Given the description of an element on the screen output the (x, y) to click on. 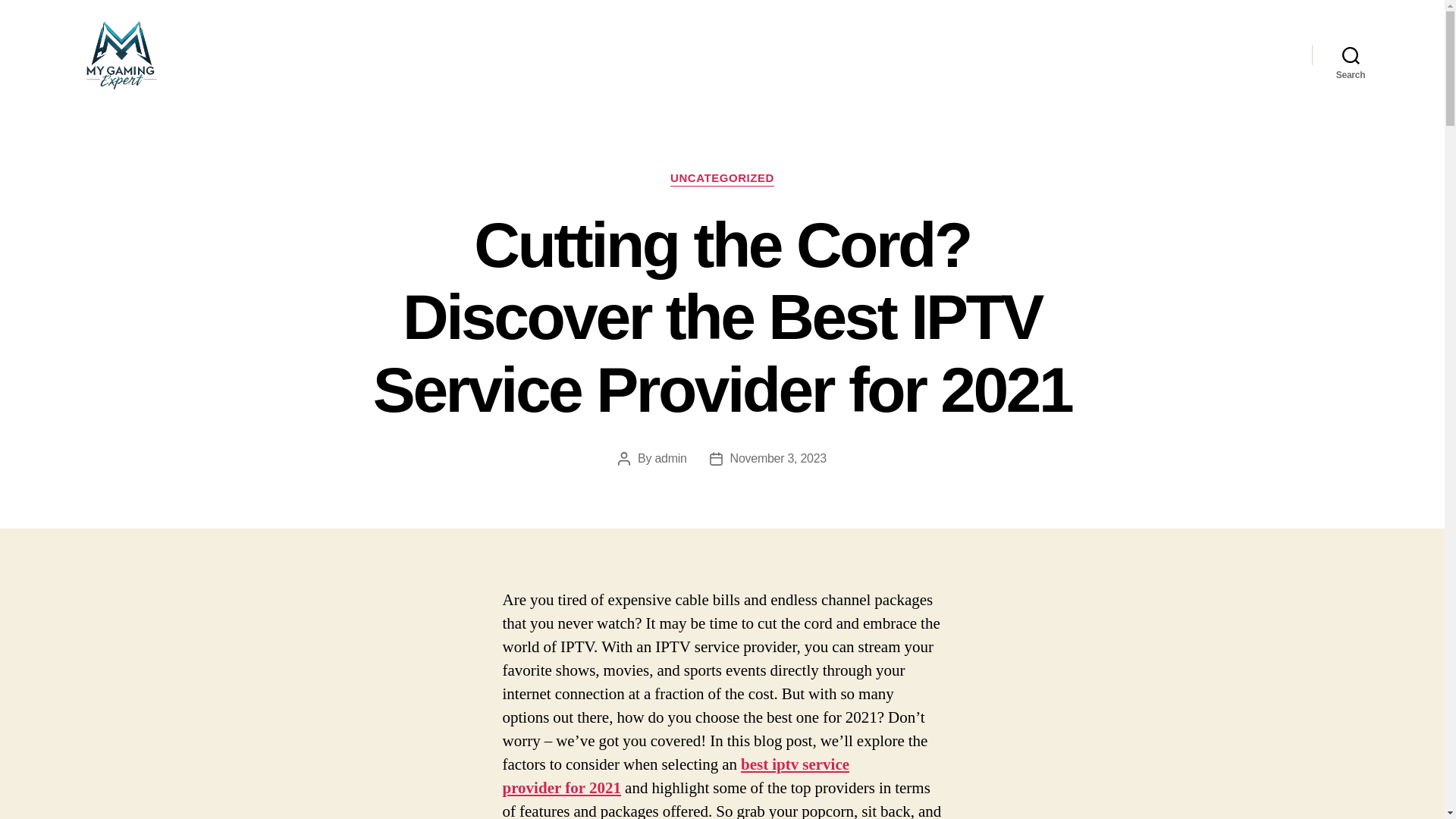
admin (669, 458)
Search (1350, 55)
November 3, 2023 (778, 458)
UNCATEGORIZED (721, 178)
best iptv service provider for 2021 (675, 776)
